Given the description of an element on the screen output the (x, y) to click on. 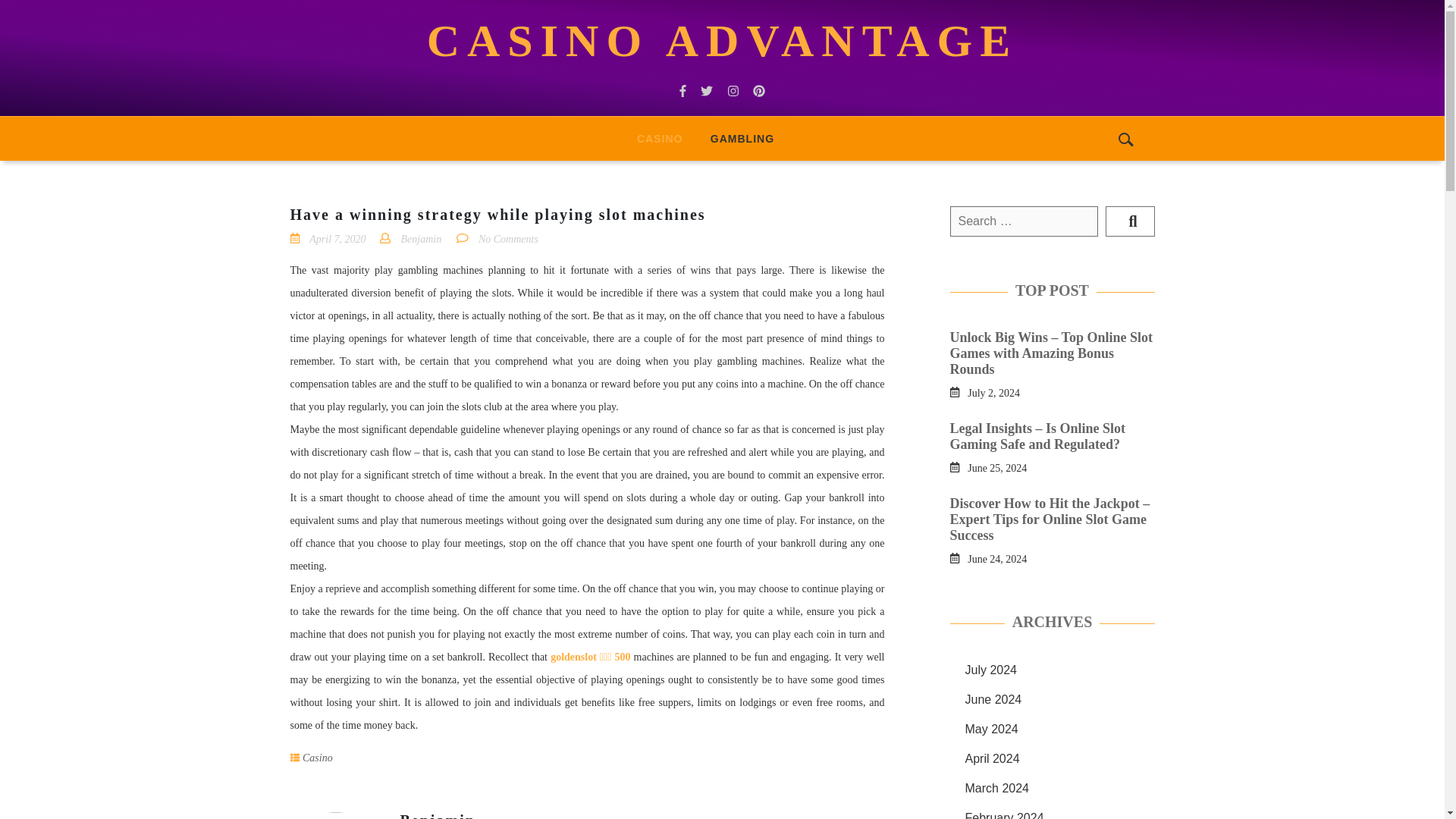
June 24, 2024 (997, 558)
Search (1129, 221)
Search (1129, 221)
Casino (317, 758)
Search (1129, 221)
March 2024 (996, 788)
Posts by Benjamin (438, 815)
June 2024 (992, 698)
Casino (659, 138)
June 25, 2024 (997, 467)
July 2, 2024 (994, 391)
GAMBLING (742, 138)
CASINO (659, 138)
July 2024 (989, 669)
April 7, 2020 (336, 238)
